Given the description of an element on the screen output the (x, y) to click on. 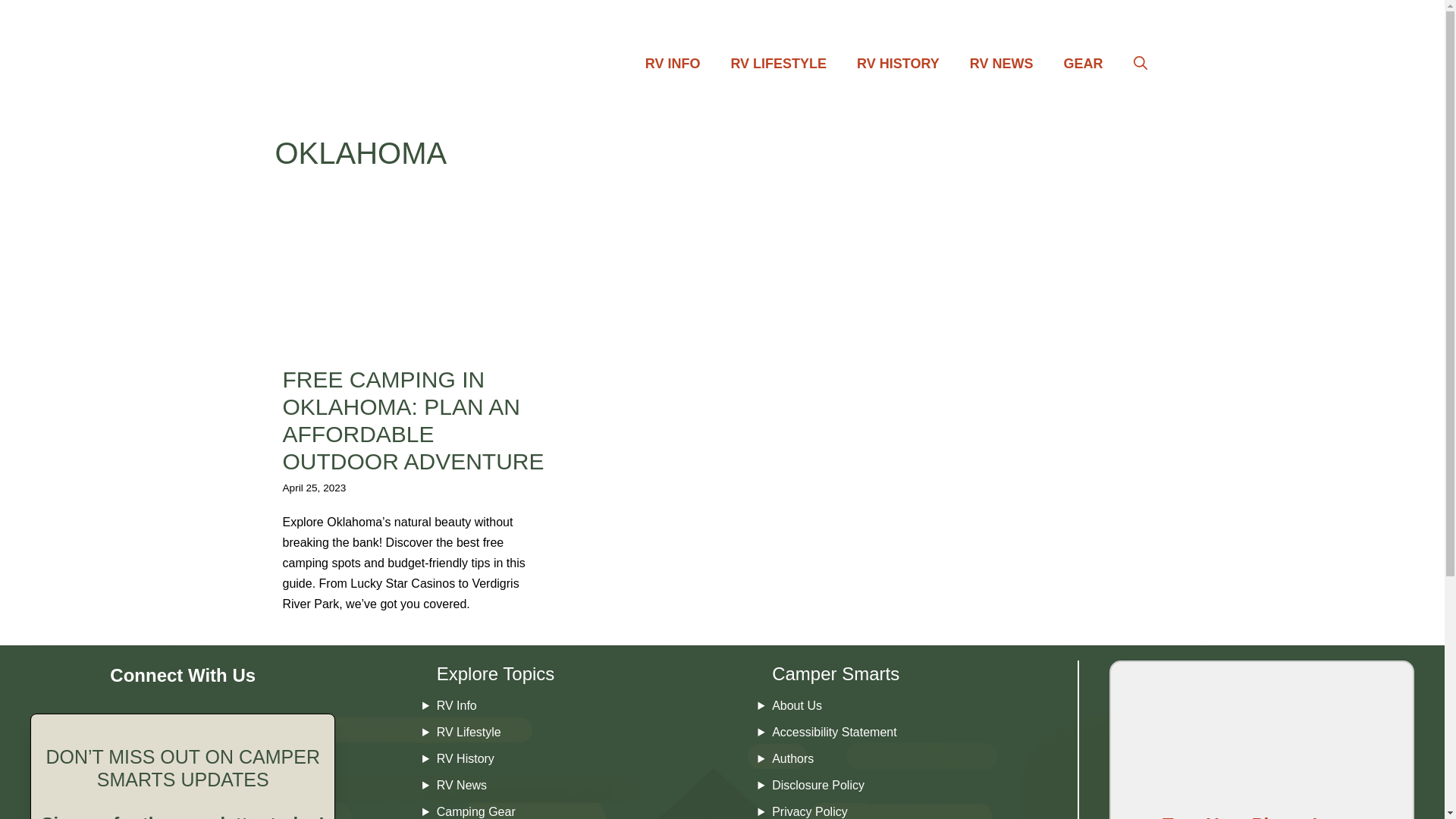
Disclosure Policy (817, 784)
RV HISTORY (898, 63)
RV LIFESTYLE (777, 63)
RV Lifestyle (468, 731)
Accessibility Statement (833, 731)
RV News (461, 784)
RV Info (456, 705)
Authors (792, 758)
Privacy Policy (809, 811)
Camping Gear (475, 811)
About Us (796, 705)
RV NEWS (1001, 63)
GEAR (1083, 63)
RV INFO (673, 63)
